Given the description of an element on the screen output the (x, y) to click on. 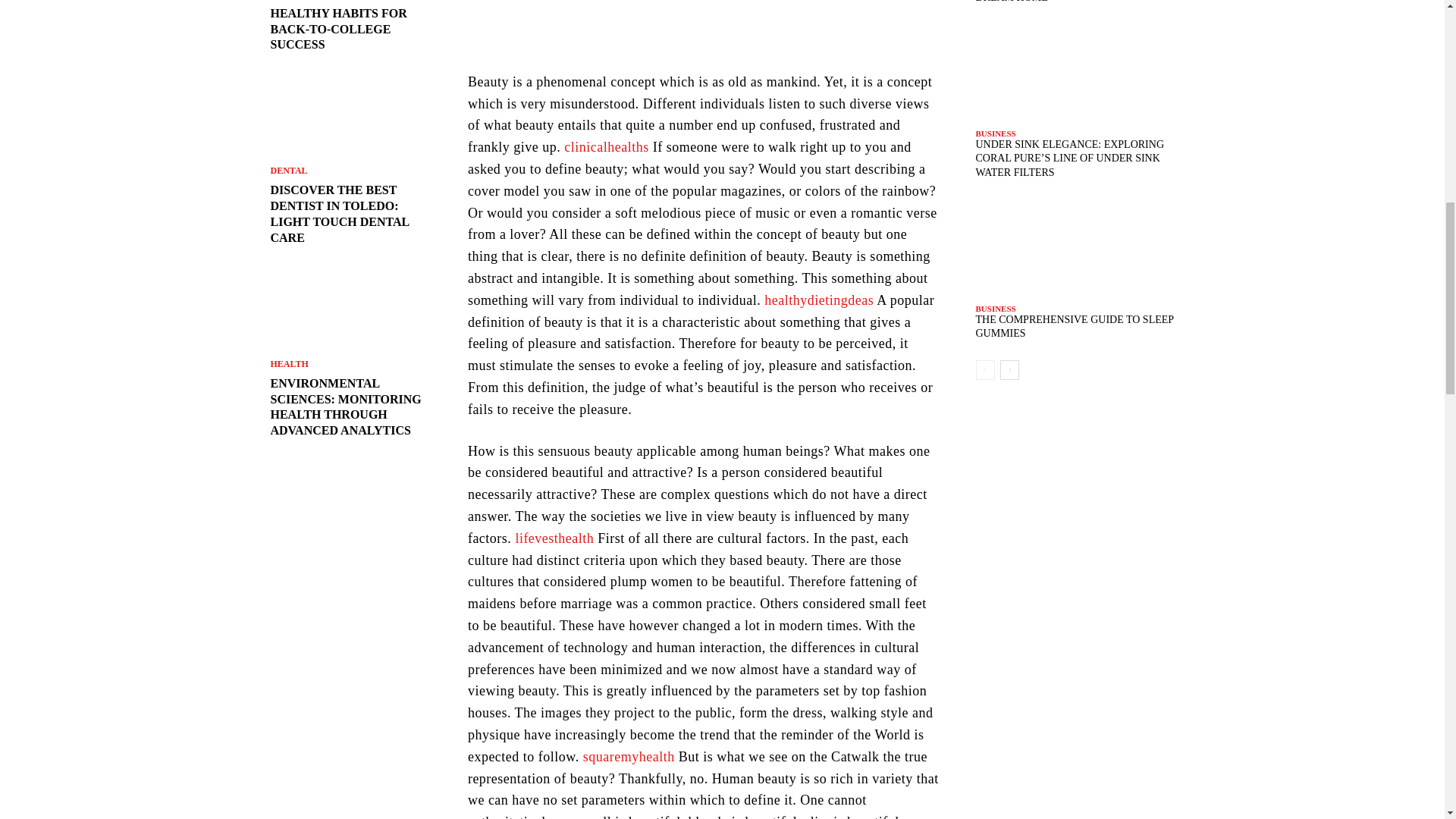
DISCOVER THE BEST DENTIST IN TOLEDO: LIGHT TOUCH DENTAL CARE (339, 213)
Discover the Best Dentist in Toledo: Light Touch Dental Care (349, 116)
Healthy Habits for Back-to-College Success (337, 28)
HEALTHY HABITS FOR BACK-TO-COLLEGE SUCCESS (337, 28)
DENTAL (288, 170)
